Given the description of an element on the screen output the (x, y) to click on. 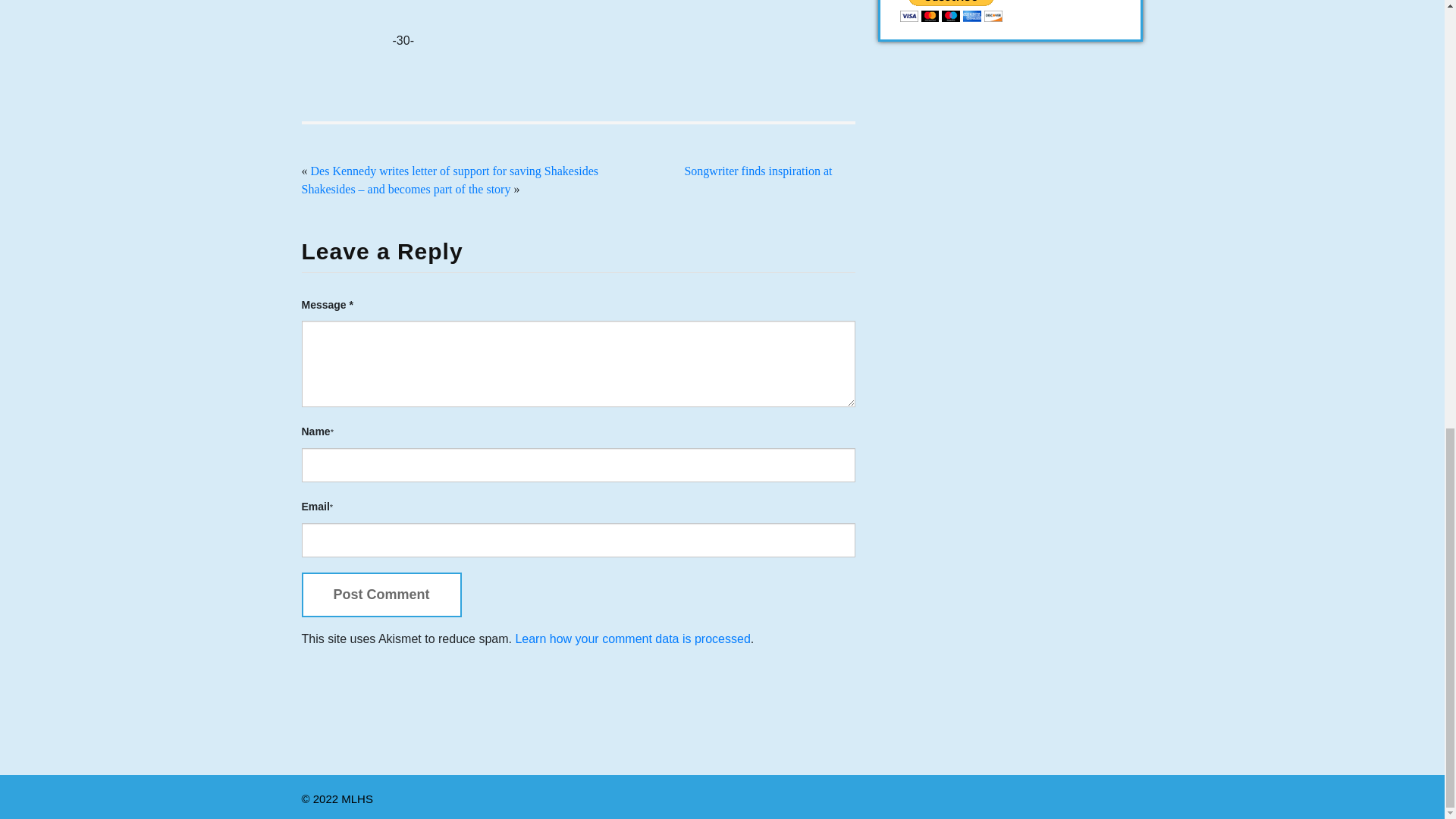
Post Comment (381, 595)
